Given the description of an element on the screen output the (x, y) to click on. 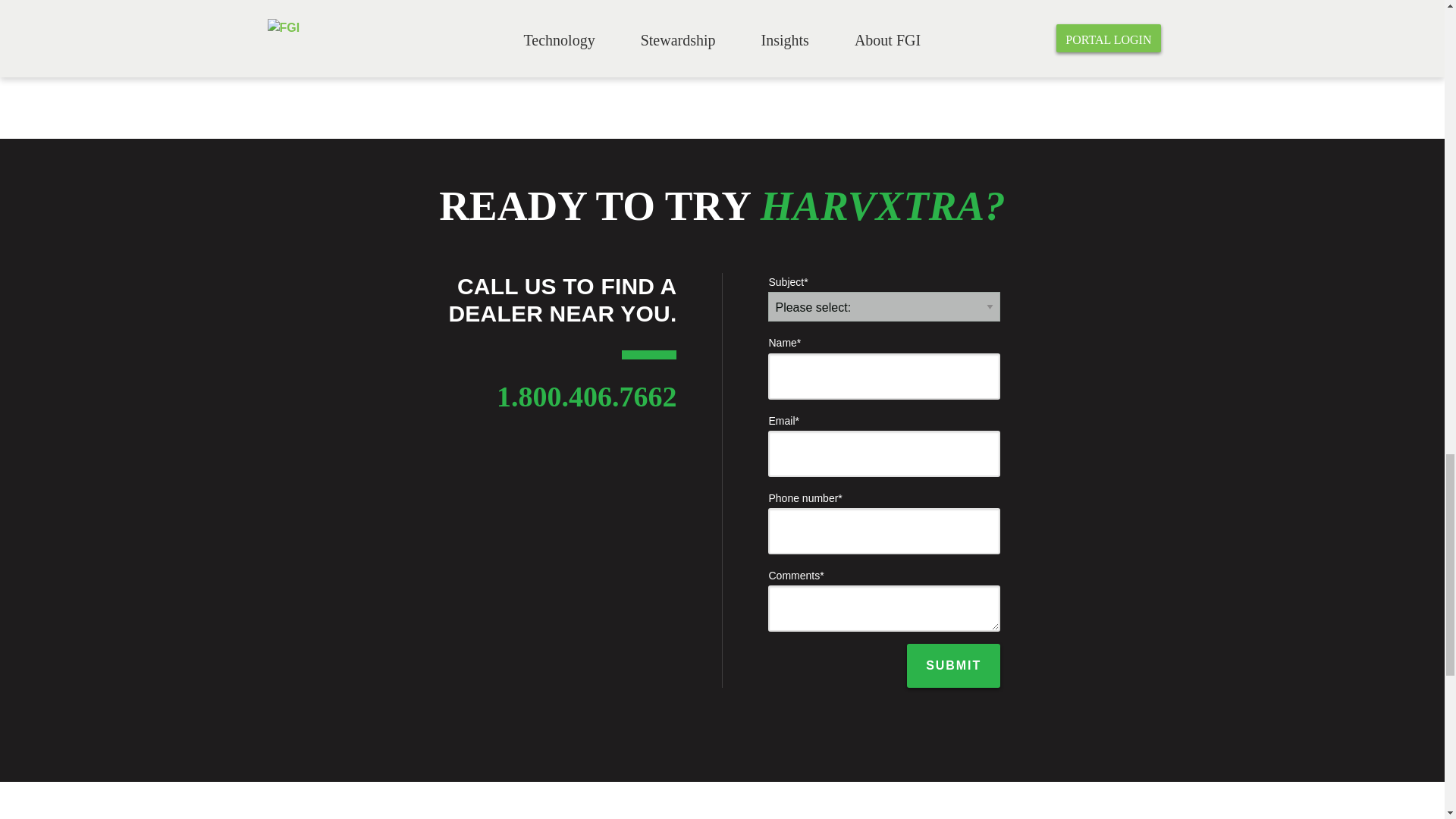
Submit (953, 665)
Submit (953, 665)
